Given the description of an element on the screen output the (x, y) to click on. 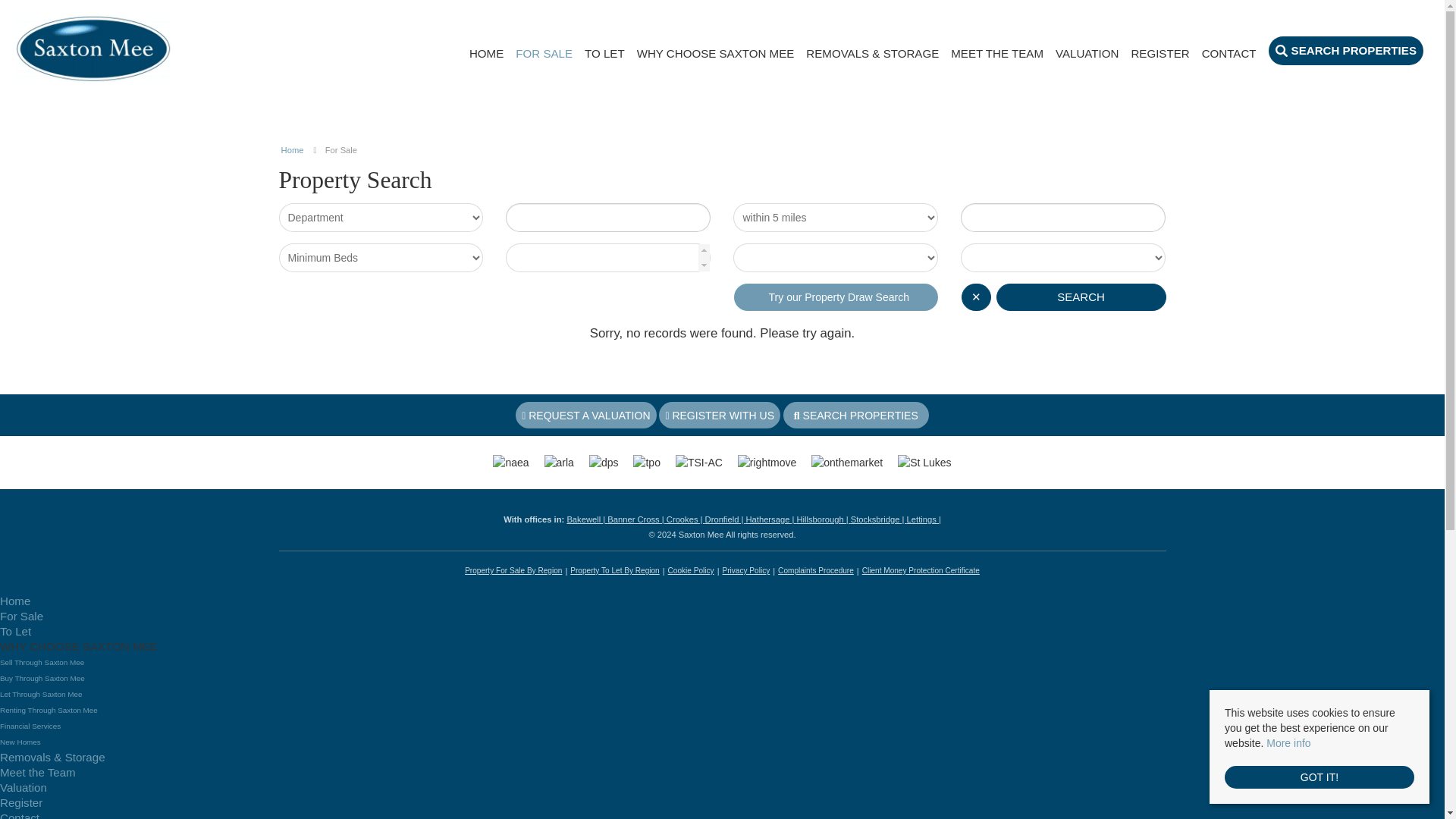
HOME (485, 52)
TO LET (604, 52)
SEARCH (1080, 297)
REGISTER (1160, 52)
FOR SALE (543, 52)
VALUATION (1086, 52)
  Try our Property Draw Search (836, 297)
Home (292, 149)
MEET THE TEAM (996, 52)
CONTACT (1229, 52)
